Given the description of an element on the screen output the (x, y) to click on. 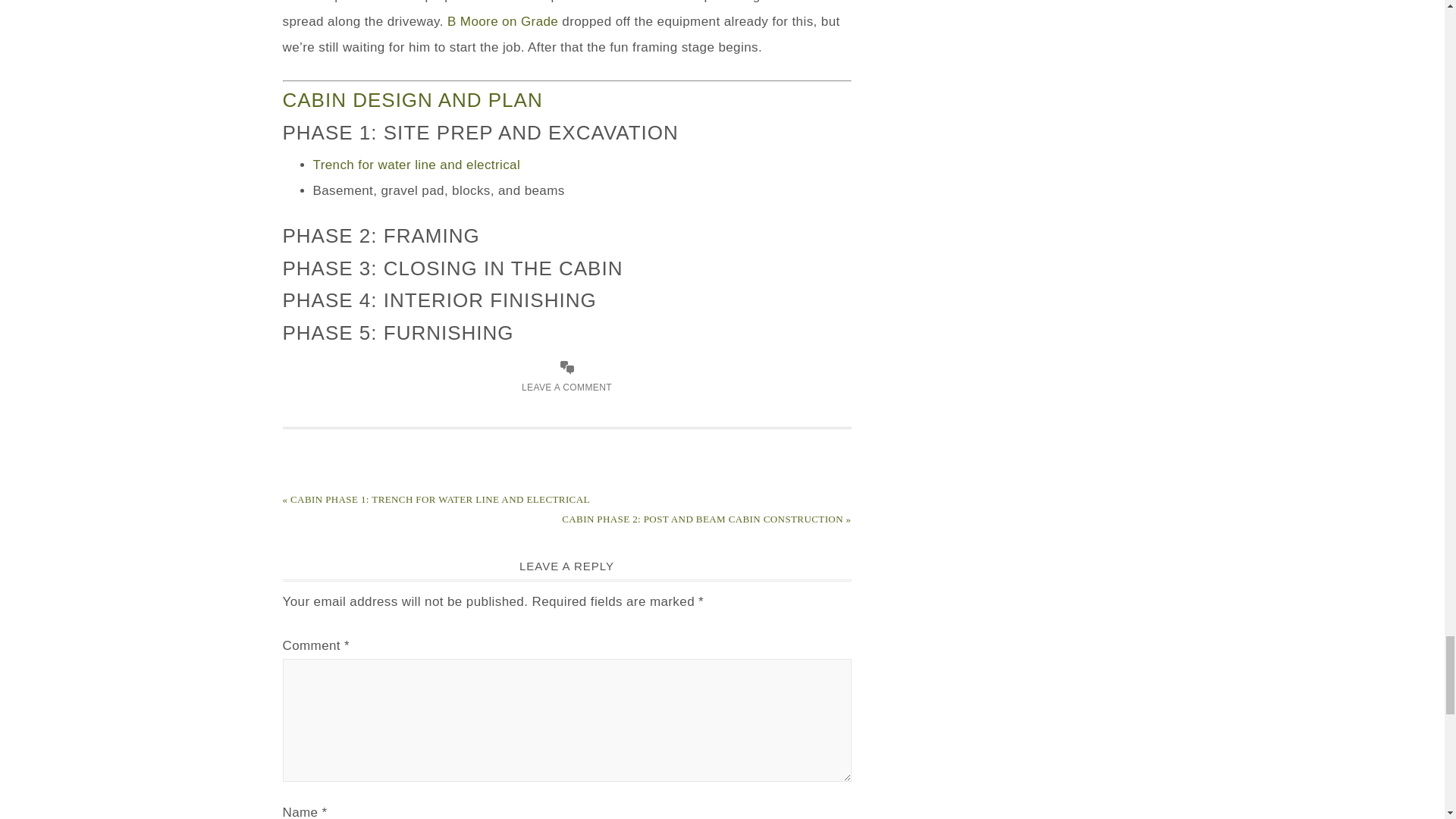
CABIN DESIGN AND PLAN (411, 99)
LEAVE A COMMENT (566, 387)
Trench for water line and electrical (416, 164)
B Moore on Grade (501, 21)
